Given the description of an element on the screen output the (x, y) to click on. 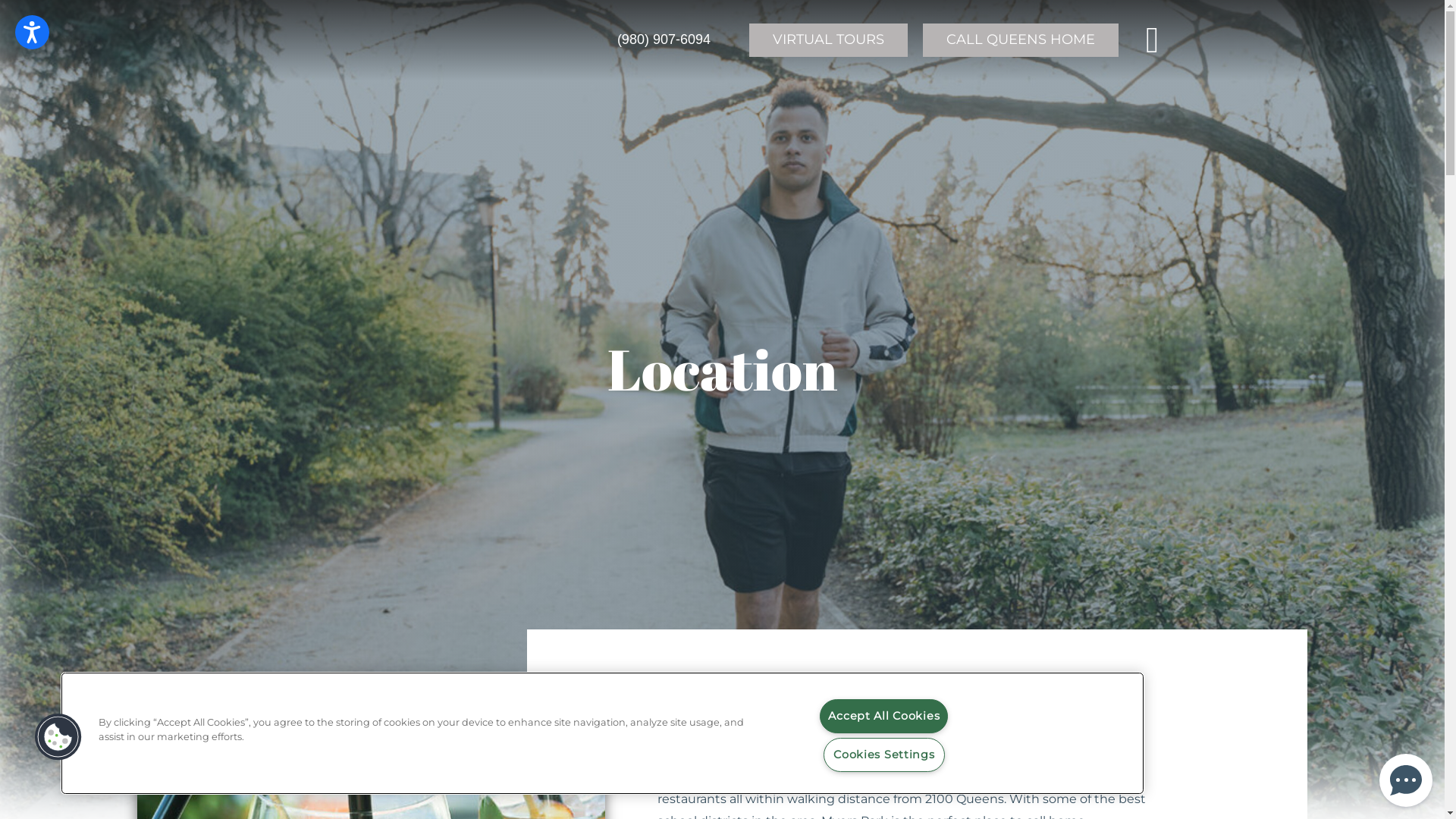
Accept All Cookies Element type: text (883, 716)
(980) 907-6094 Element type: text (663, 39)
VIRTUAL TOURS Element type: text (828, 39)
CALL QUEENS HOME Element type: text (1020, 39)
Cookies Settings Element type: text (883, 754)
Cookies Button Element type: text (58, 736)
